Given the description of an element on the screen output the (x, y) to click on. 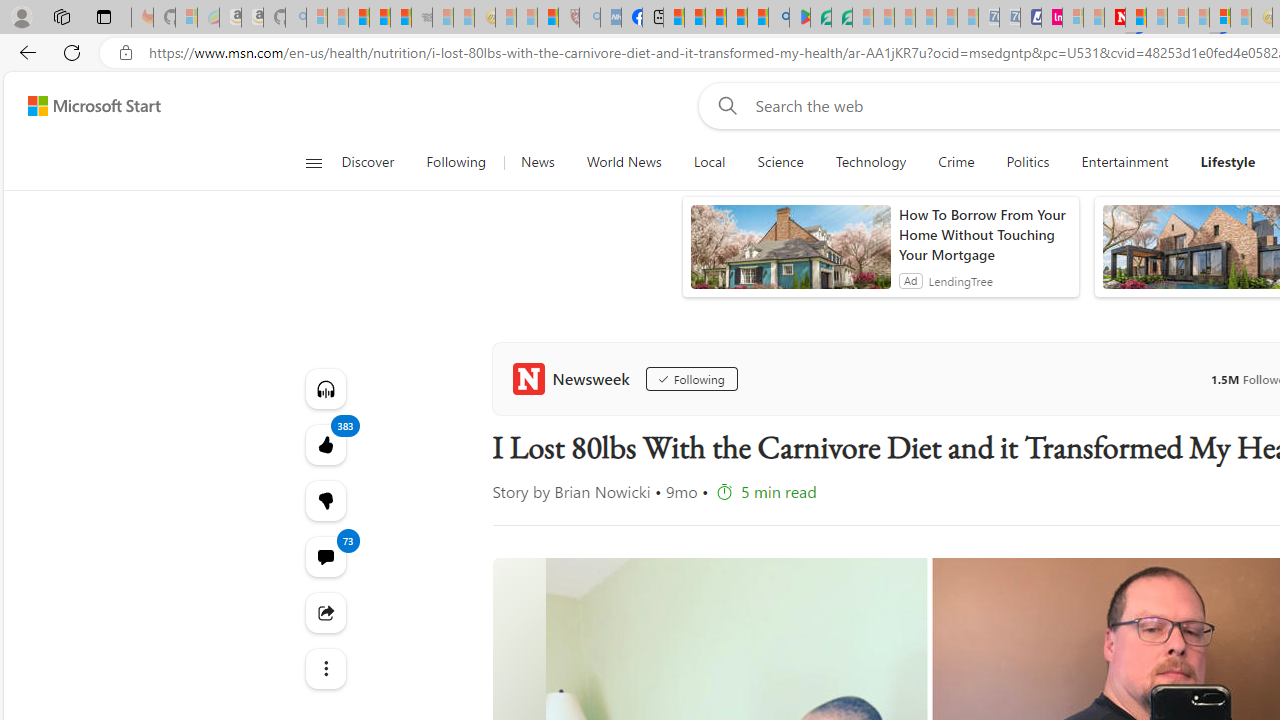
LendingTree (960, 280)
Trusted Community Engagement and Contributions | Guidelines (1135, 17)
Robert H. Shmerling, MD - Harvard Health - Sleeping (568, 17)
383 (324, 500)
Dislike (324, 500)
How To Borrow From Your Home Without Touching Your Mortgage (984, 234)
Web search (724, 105)
Entertainment (1124, 162)
Skip to content (86, 105)
Technology (870, 162)
Share this story (324, 612)
Pets - MSN (737, 17)
